Given the description of an element on the screen output the (x, y) to click on. 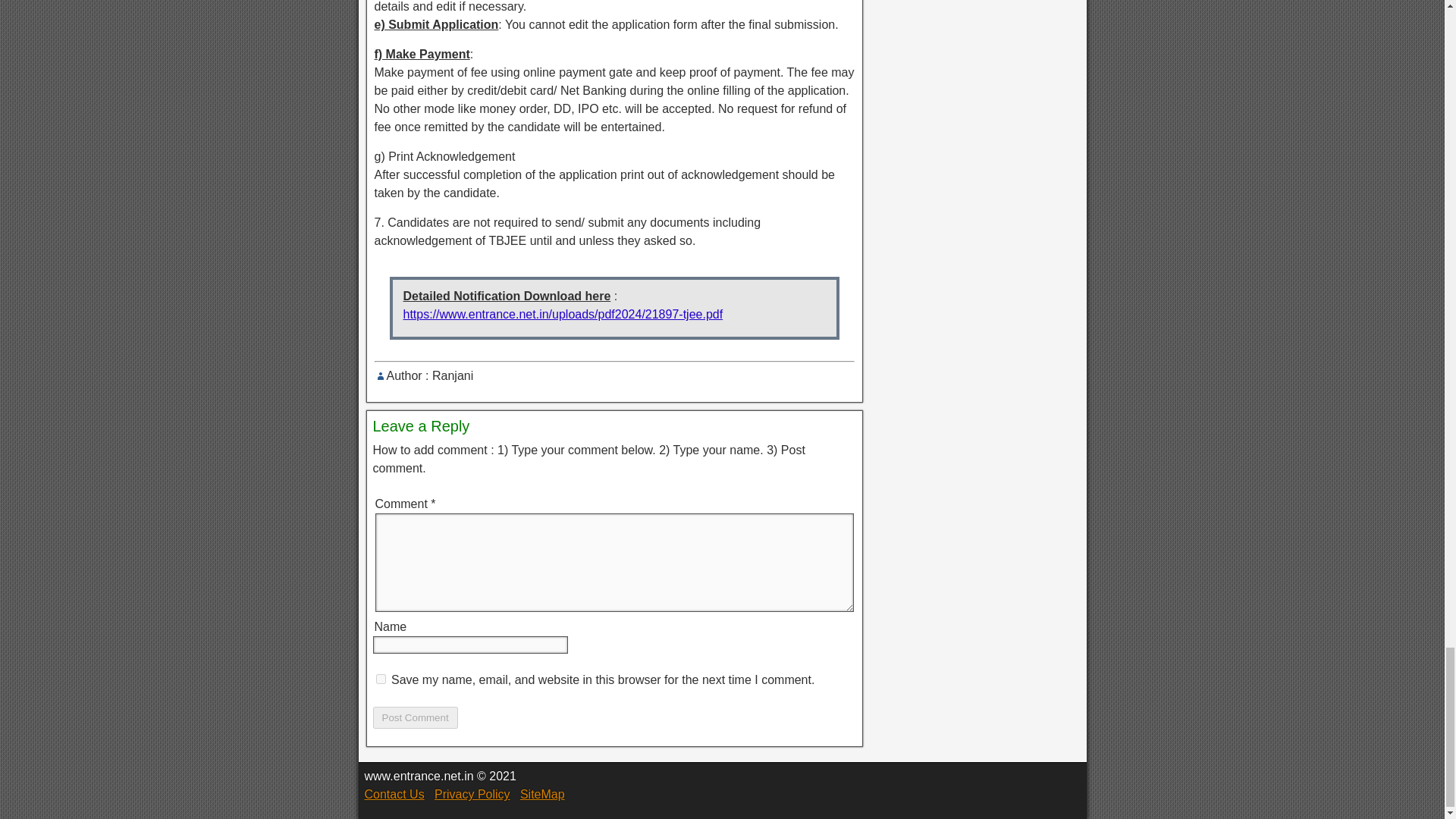
Privacy Policy (472, 793)
yes (380, 678)
SiteMap (541, 793)
Contact Us (393, 793)
Post Comment (415, 717)
Post Comment (415, 717)
